Given the description of an element on the screen output the (x, y) to click on. 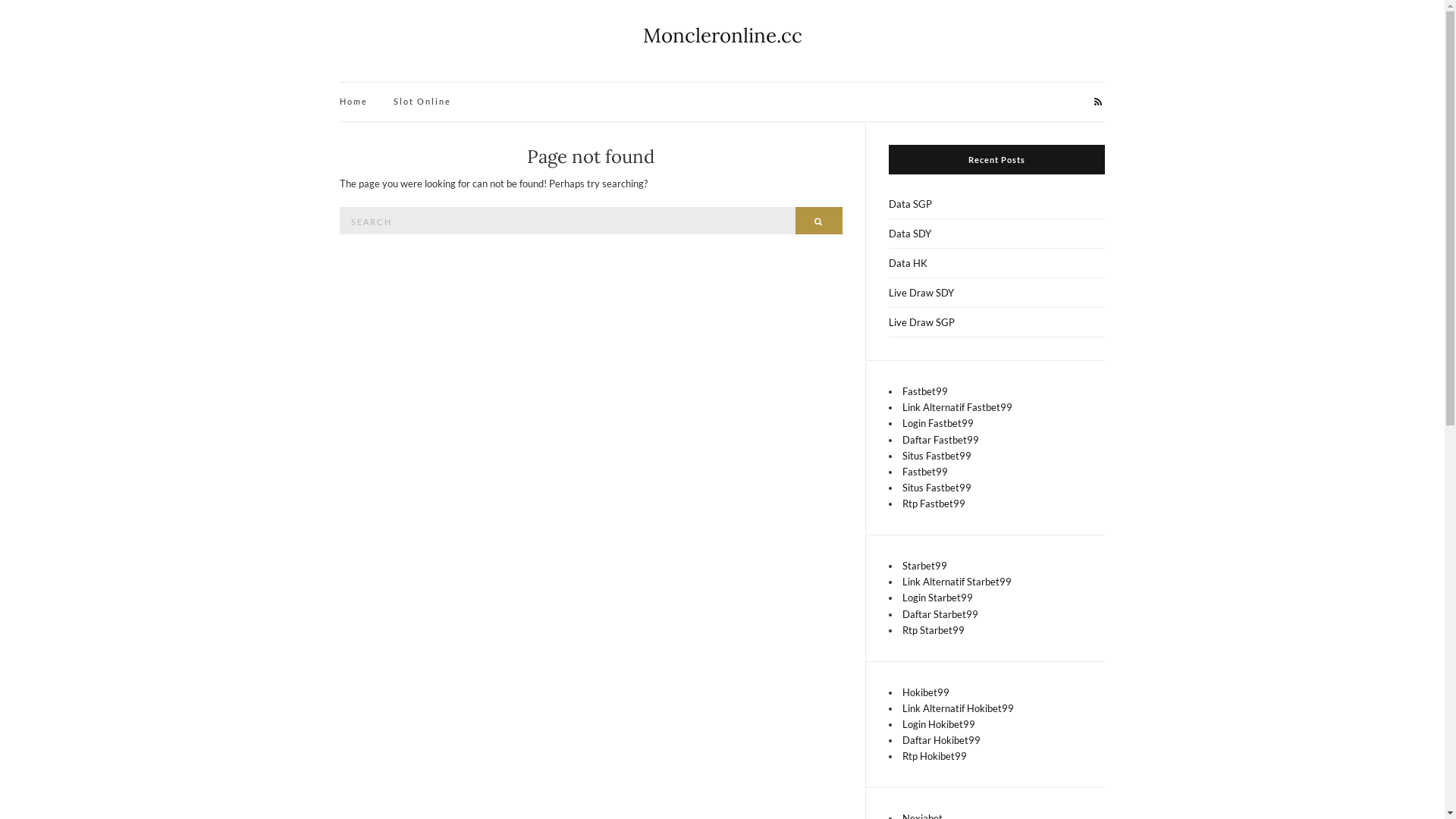
Data HK Element type: text (996, 263)
Data SDY Element type: text (996, 233)
Daftar Hokibet99 Element type: text (941, 740)
Starbet99 Element type: text (924, 565)
Link Alternatif Starbet99 Element type: text (956, 581)
Fastbet99 Element type: text (924, 391)
Link Alternatif Hokibet99 Element type: text (957, 708)
Link Alternatif Fastbet99 Element type: text (957, 407)
Search Element type: text (818, 220)
Rtp Fastbet99 Element type: text (933, 503)
Moncleronline.cc Element type: text (722, 34)
Login Hokibet99 Element type: text (938, 724)
Live Draw SDY Element type: text (996, 292)
Rtp Starbet99 Element type: text (933, 630)
Hokibet99 Element type: text (925, 692)
Situs Fastbet99 Element type: text (936, 487)
Slot Online Element type: text (421, 101)
Daftar Fastbet99 Element type: text (940, 439)
Data SGP Element type: text (996, 204)
Daftar Starbet99 Element type: text (940, 614)
Home Element type: text (353, 101)
Login Starbet99 Element type: text (937, 597)
Rtp Hokibet99 Element type: text (934, 755)
Fastbet99 Element type: text (924, 471)
Live Draw SGP Element type: text (996, 322)
Situs Fastbet99 Element type: text (936, 455)
Login Fastbet99 Element type: text (937, 423)
